Given the description of an element on the screen output the (x, y) to click on. 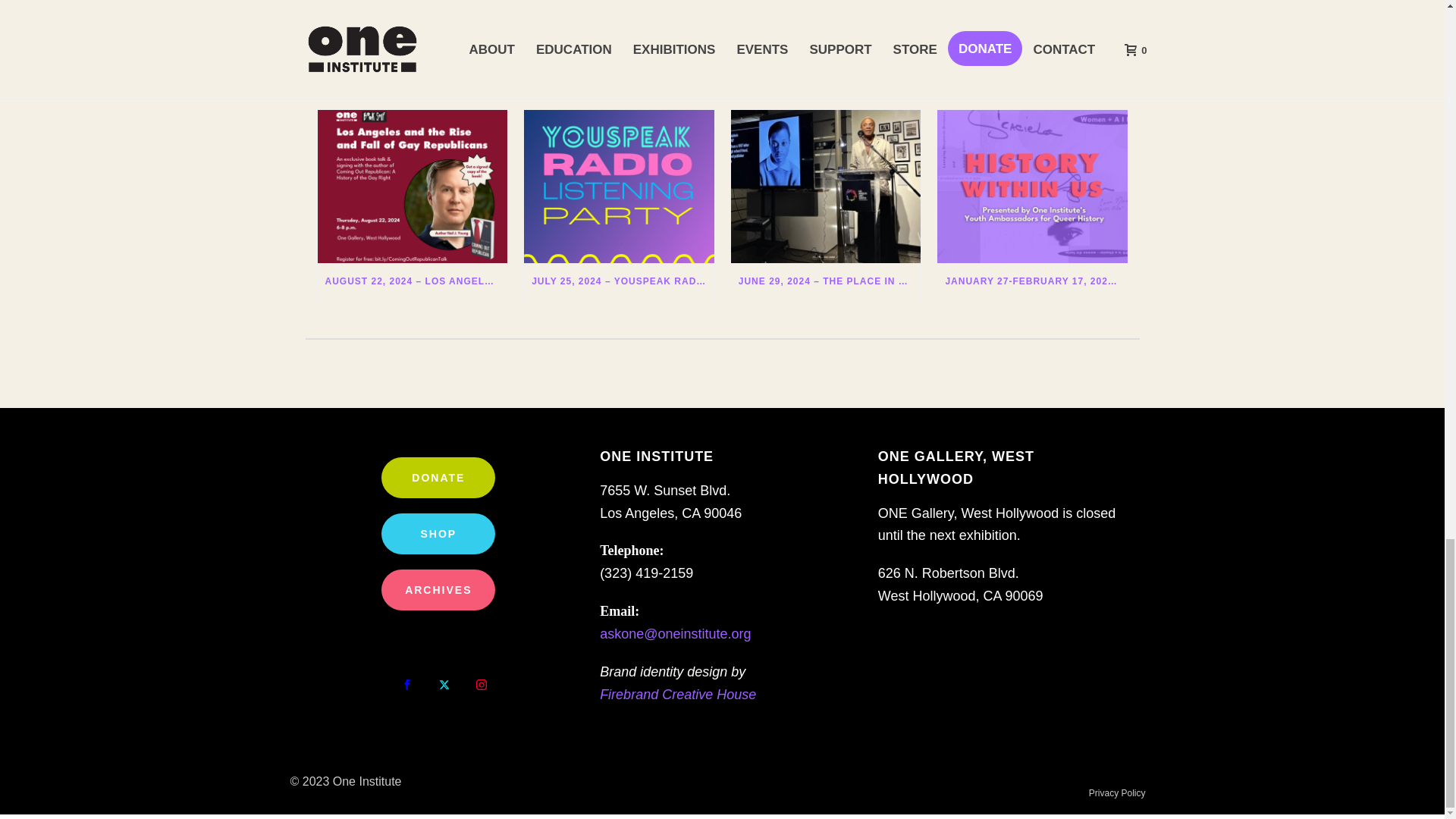
SHOP (438, 533)
ARCHIVES (438, 589)
DONATE (438, 477)
